Given the description of an element on the screen output the (x, y) to click on. 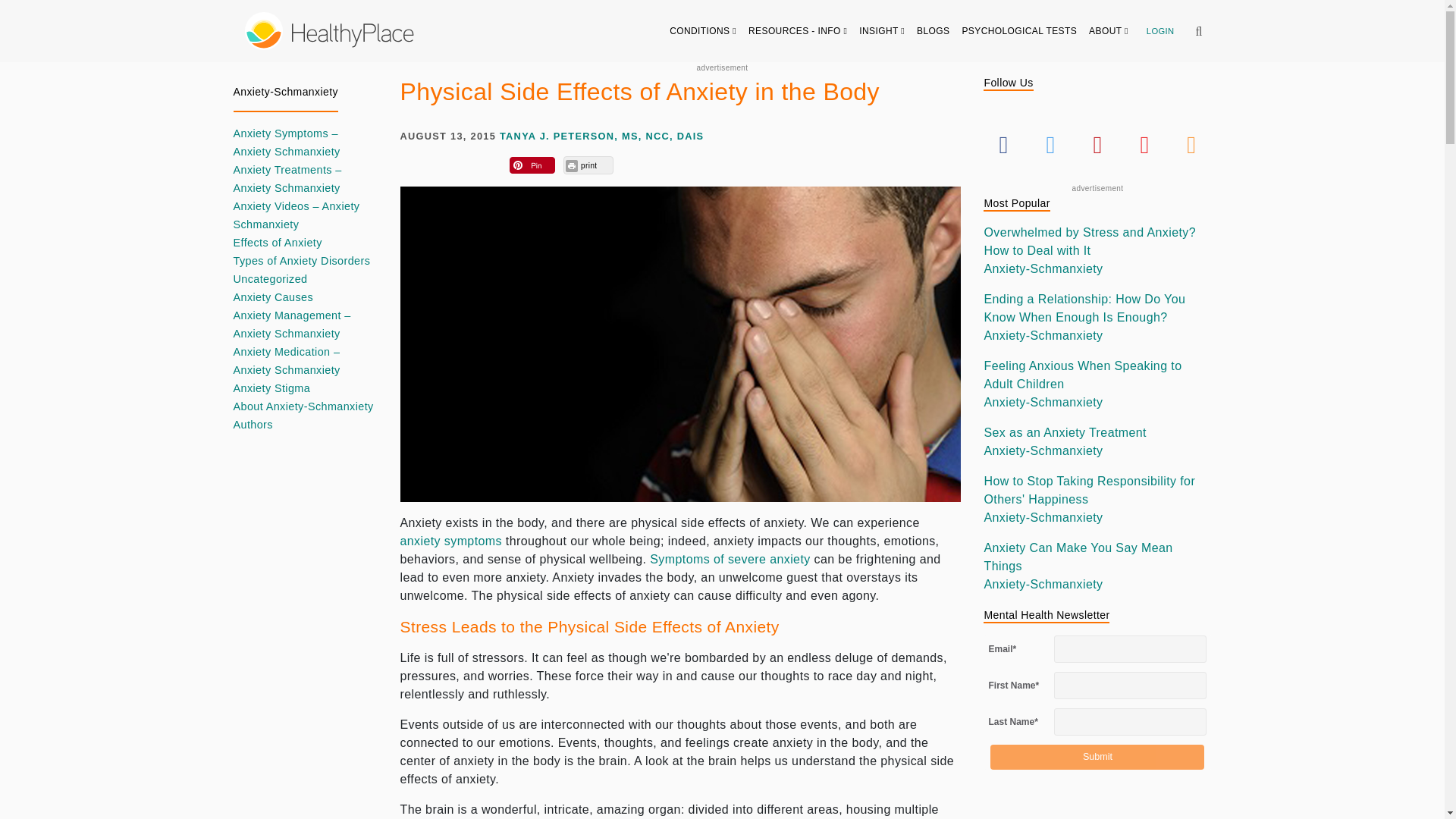
Submit (1097, 756)
INSIGHT (882, 31)
Symptoms of Severe Anxiety Feel Very Scary (729, 558)
CONDITIONS (702, 31)
RESOURCES - INFO (797, 31)
Anxiety Symptoms: Recognizing Signs of Anxiety (451, 540)
